Given the description of an element on the screen output the (x, y) to click on. 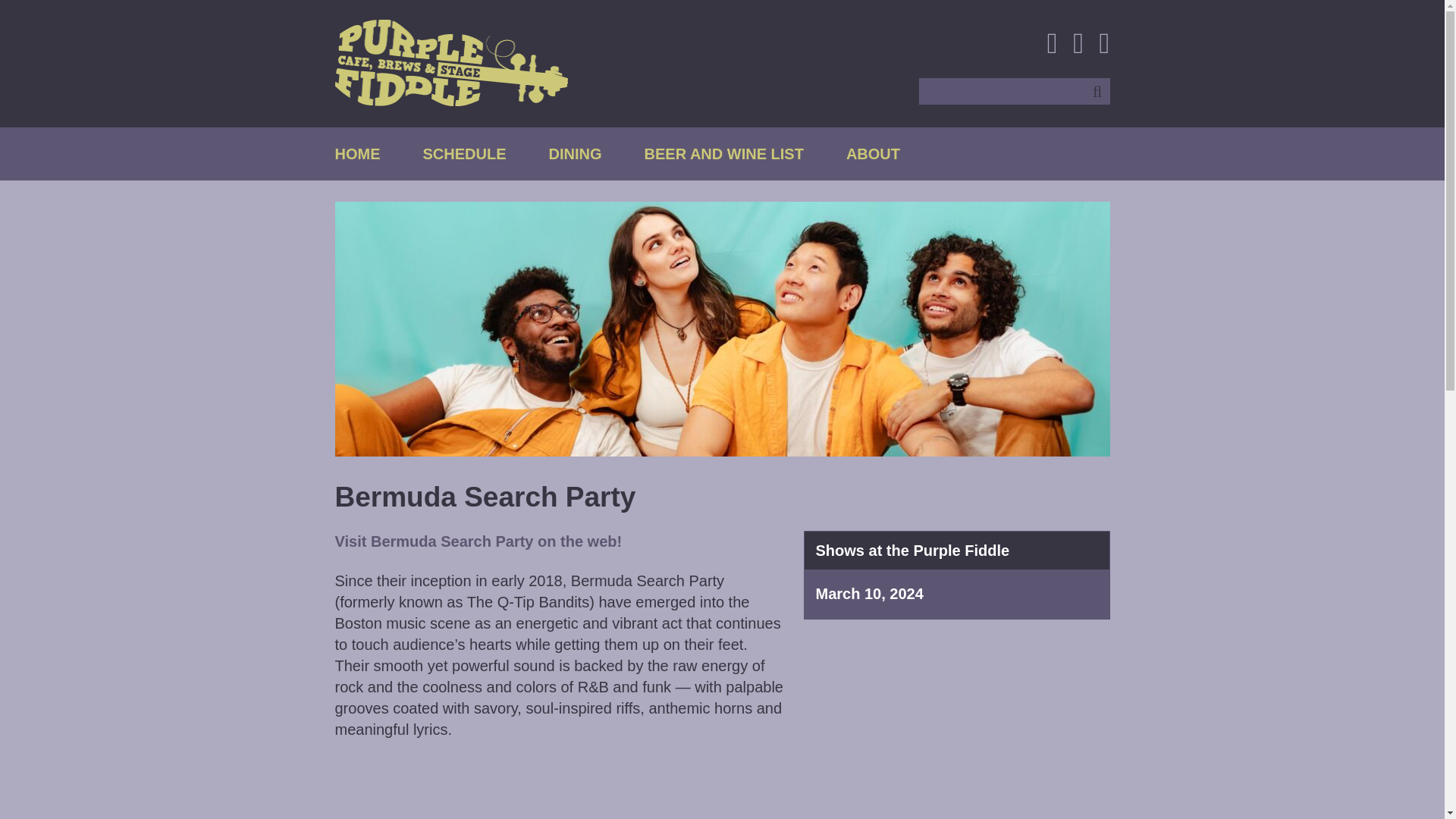
DINING (575, 153)
BEER AND WINE LIST (724, 153)
Visit Bermuda Search Party on the web! (478, 541)
YouTube video player (459, 788)
Beer and Wine List (724, 153)
Full band schedule (464, 153)
ABOUT (872, 153)
SCHEDULE (464, 153)
